Given the description of an element on the screen output the (x, y) to click on. 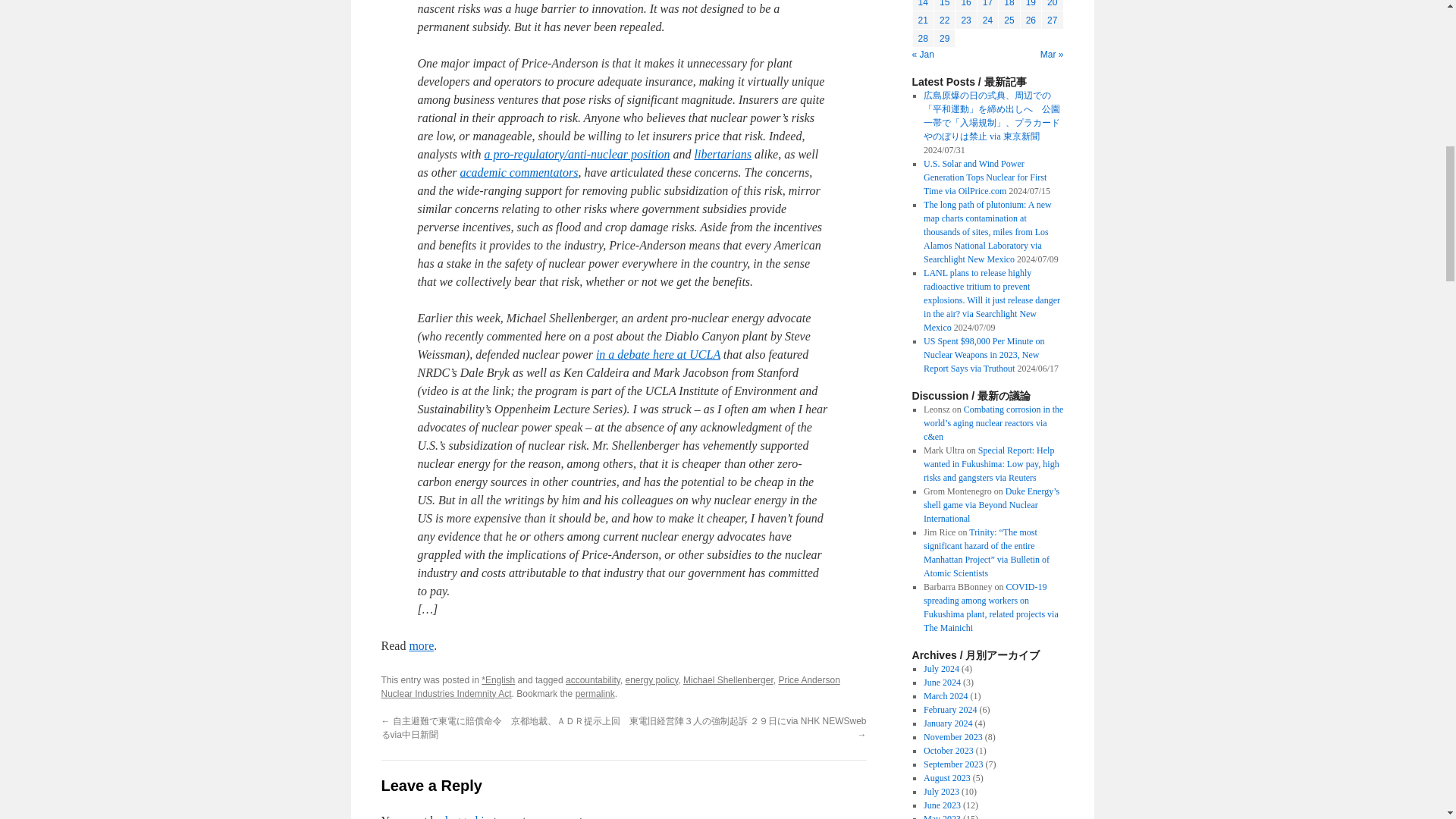
in a debate here at UCLA (657, 354)
Michael Shellenberger (727, 679)
accountability (593, 679)
libertarians (723, 154)
energy policy (651, 679)
academic commentators (519, 172)
more (421, 645)
